Given the description of an element on the screen output the (x, y) to click on. 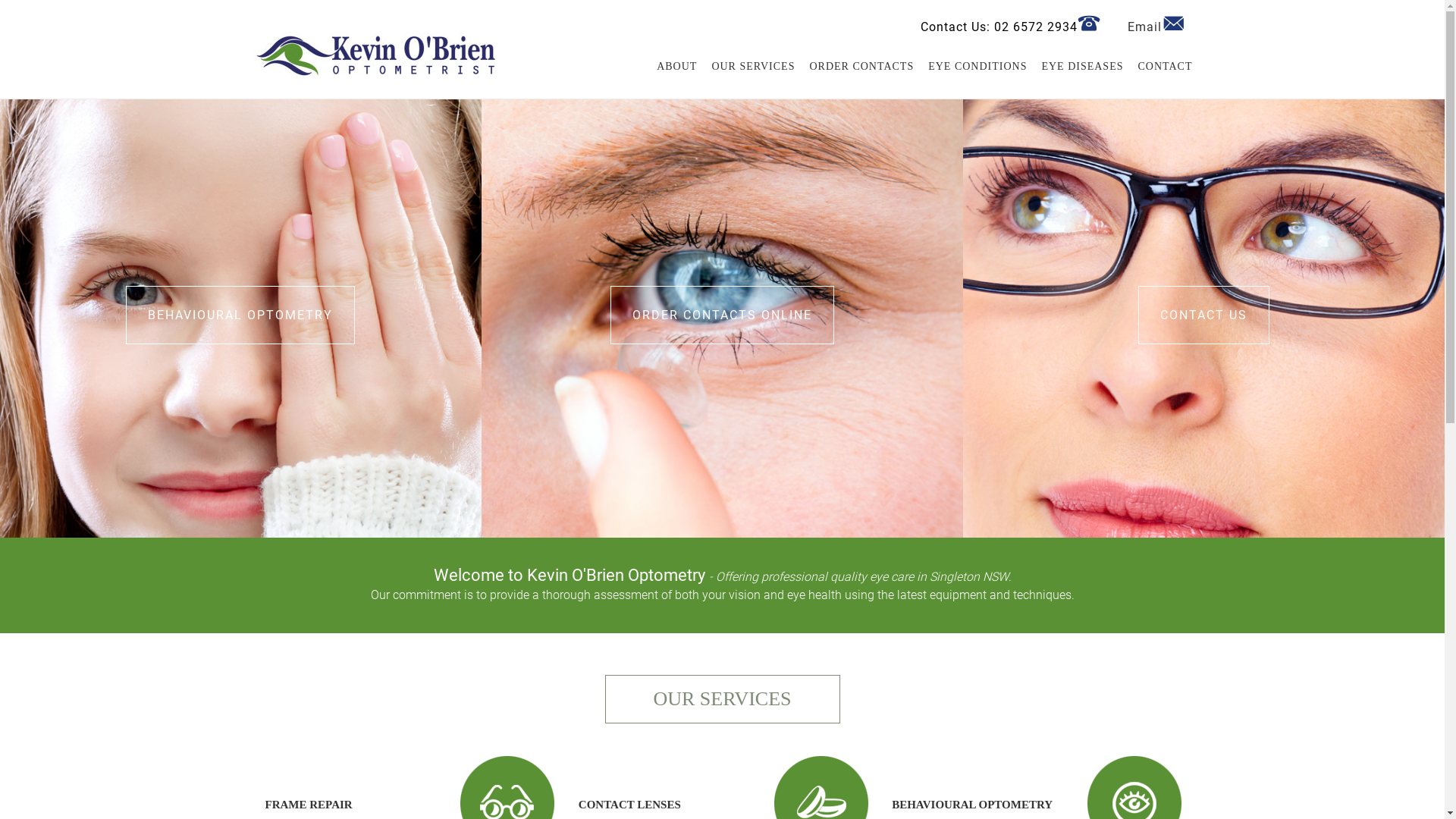
CONTACT Element type: text (1159, 66)
EYE CONDITIONS Element type: text (971, 66)
EYE DISEASES Element type: text (1076, 66)
ORDER CONTACTS Element type: text (855, 66)
CONTACT US Element type: text (1203, 314)
BEHAVIOURAL OPTOMETRY Element type: text (239, 314)
SINGLETON OPTOMETRIST | KEVIN O'BRIEN OPTOMETRIST Element type: text (372, 37)
OUR SERVICES Element type: text (746, 66)
ORDER CONTACTS ONLINE Element type: text (722, 314)
Email Element type: hover (1173, 23)
ABOUT Element type: text (670, 66)
Contact us: 02 6572 2934 Element type: hover (1088, 23)
